Given the description of an element on the screen output the (x, y) to click on. 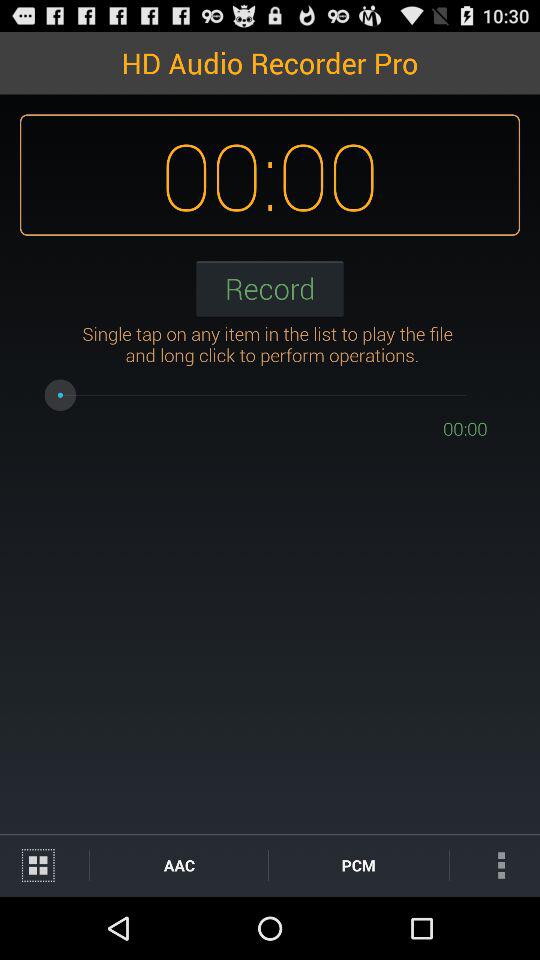
open stored recordings (44, 865)
